Given the description of an element on the screen output the (x, y) to click on. 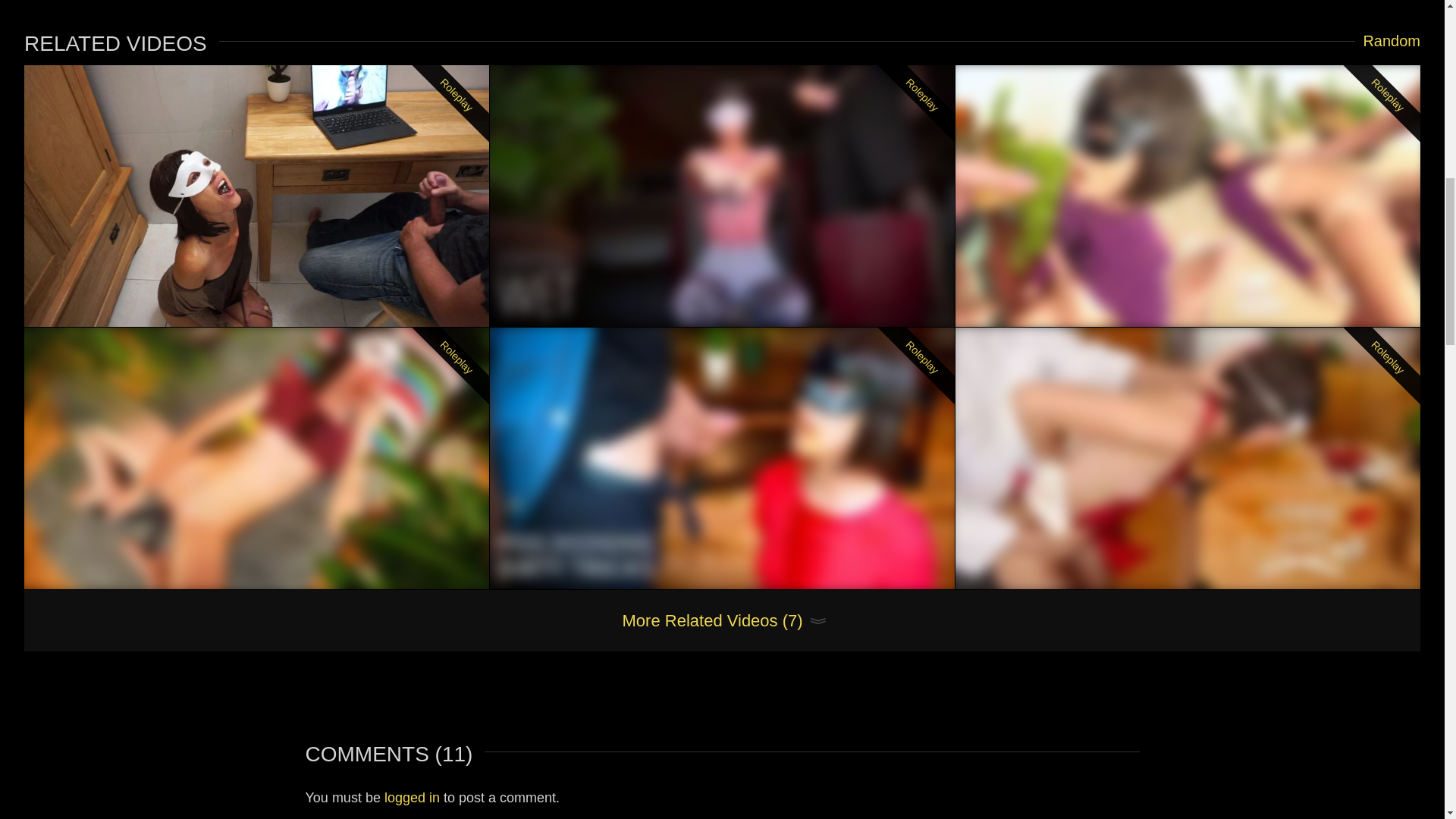
Roleplay (722, 457)
Roleplay (1188, 195)
Random (1388, 40)
Roleplay (256, 195)
Roleplay (256, 457)
logged in (411, 797)
Roleplay (1188, 457)
Roleplay (722, 195)
